Given the description of an element on the screen output the (x, y) to click on. 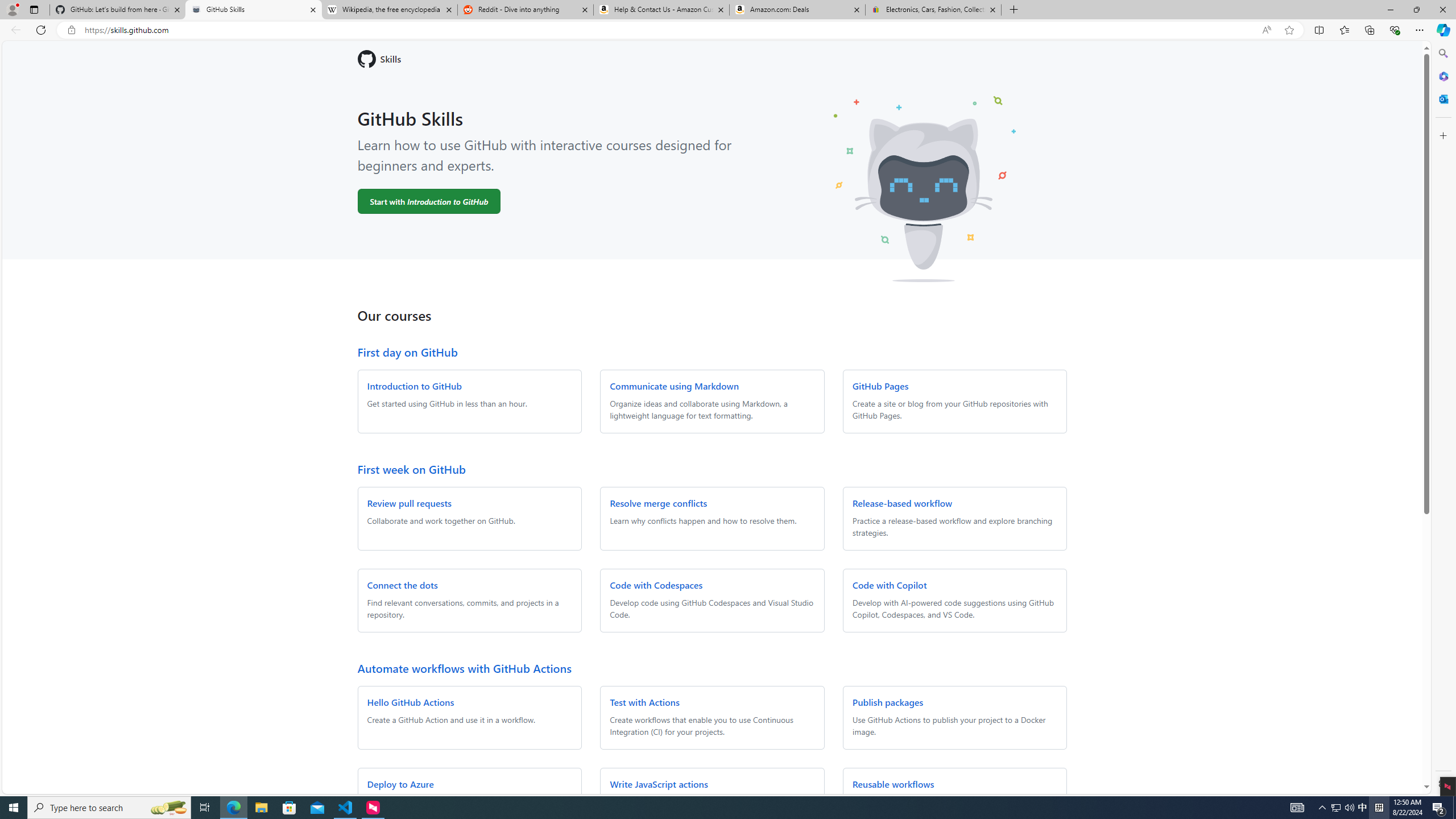
Help & Contact Us - Amazon Customer Service (660, 9)
Skills (711, 58)
Wikipedia, the free encyclopedia (390, 9)
First week on GitHub (410, 468)
Publish packages (887, 702)
Resolve merge conflicts (658, 503)
Start with Introduction to GitHub (428, 201)
Communicate using Markdown (674, 385)
Reusable workflows (892, 784)
Test with Actions (644, 702)
